Given the description of an element on the screen output the (x, y) to click on. 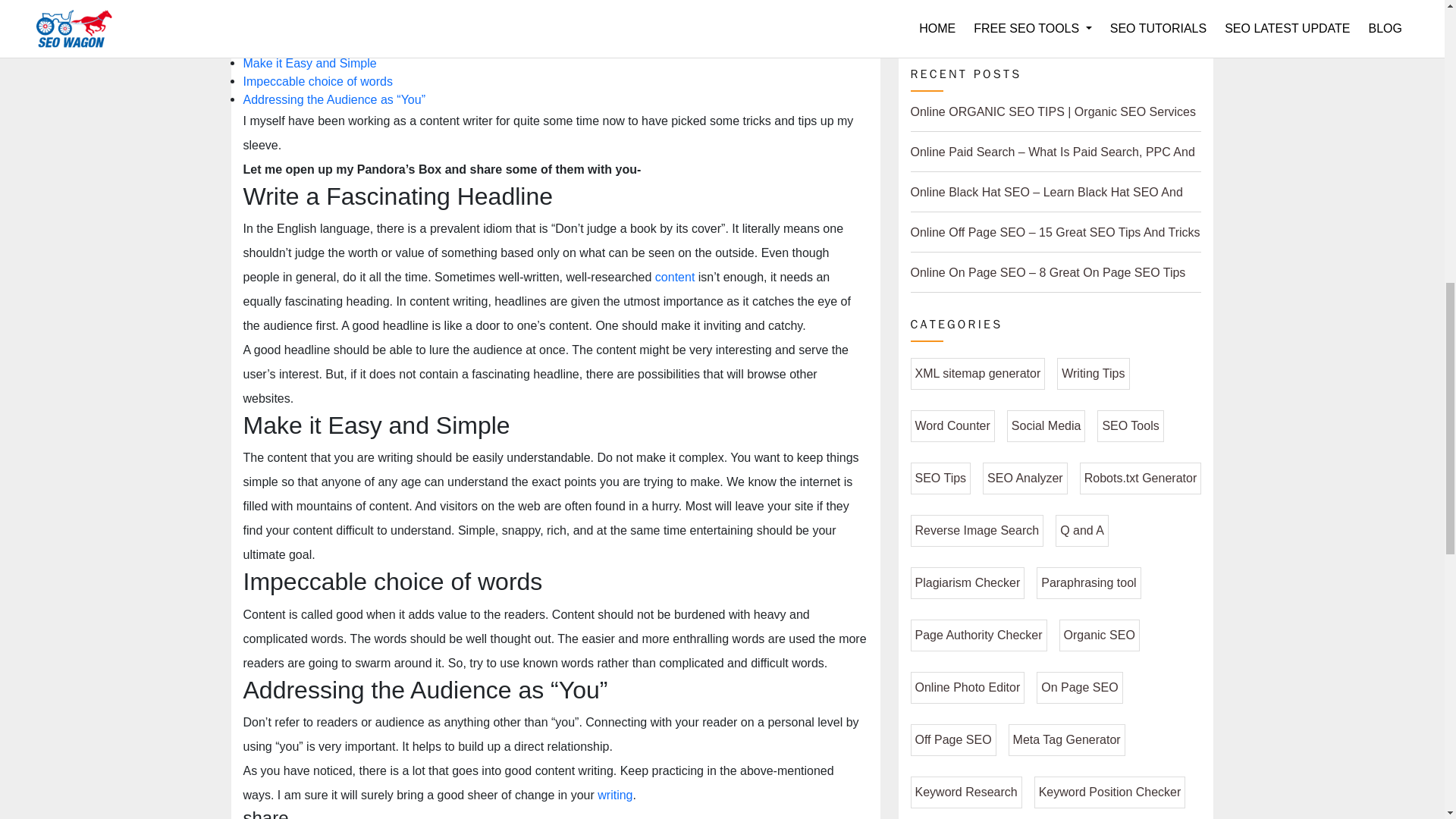
Write a Fascinating Headline (320, 45)
Write a Fascinating Headline (320, 45)
Impeccable choice of words (317, 81)
writing (613, 794)
Make it Easy and Simple (309, 63)
Make it Easy and Simple (309, 63)
Impeccable choice of words (317, 81)
content (674, 277)
on (247, 26)
